Given the description of an element on the screen output the (x, y) to click on. 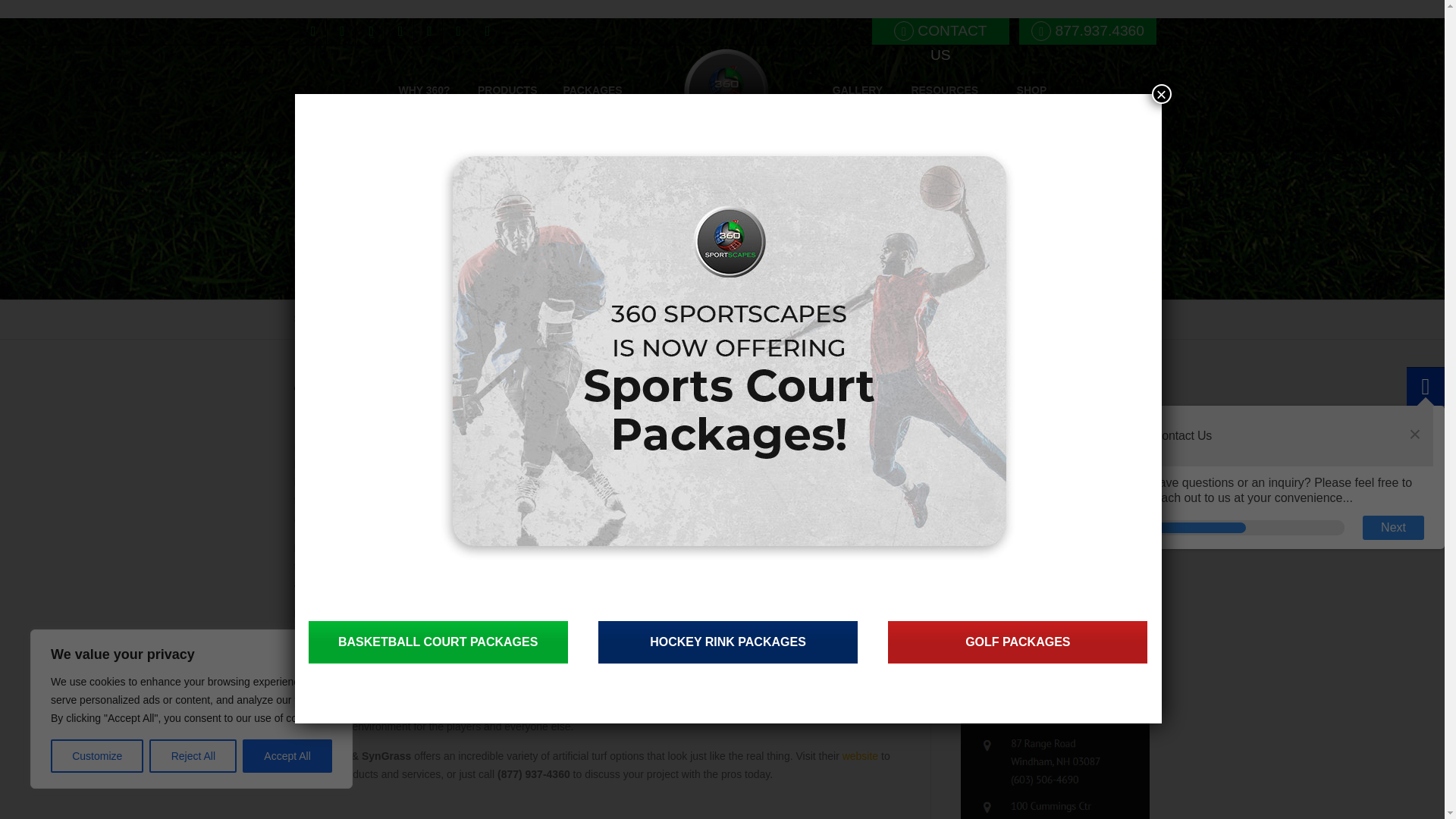
PACKAGES (592, 98)
Reject All (192, 756)
Houzz (312, 31)
Twitter (342, 31)
Go to Blog. (407, 318)
Go to 360 SportScapes. (331, 318)
WHY 360? (424, 98)
877.937.4360 (1087, 31)
Instagram (429, 31)
PRODUCTS (506, 98)
CONTACT US (940, 31)
Youtube (458, 31)
Customize (96, 756)
Facebook (371, 31)
Accept All (287, 756)
